Given the description of an element on the screen output the (x, y) to click on. 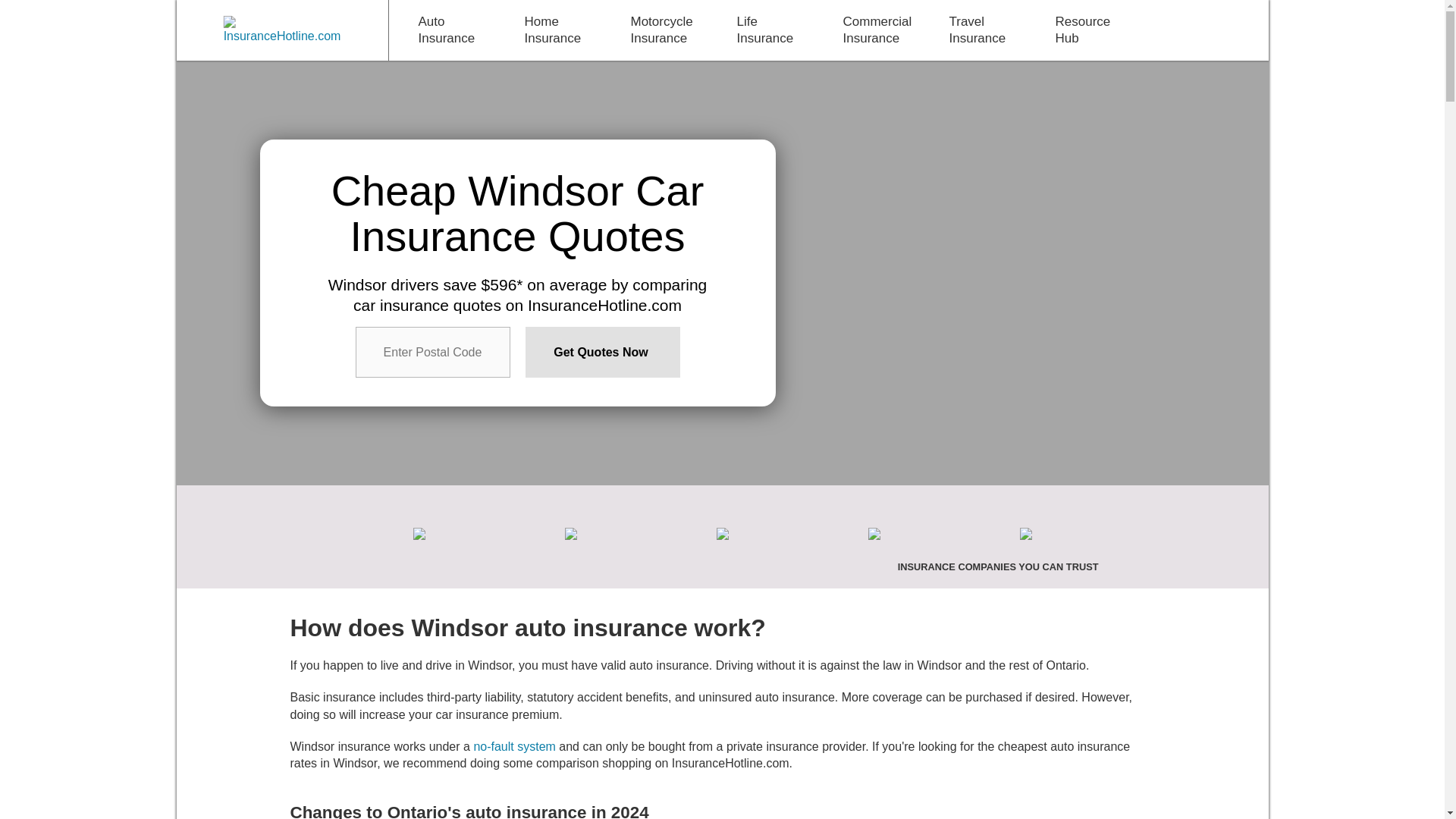
Motorcycle Insurance (661, 30)
Get Quotes Now (601, 351)
Home Insurance (555, 30)
Travel Insurance (979, 30)
Auto Insurance (449, 30)
Home Insurance (555, 30)
Motorcycle Insurance (661, 30)
Life Insurance (767, 30)
Commercial Insurance (877, 30)
Travel Insurance (979, 30)
